Given the description of an element on the screen output the (x, y) to click on. 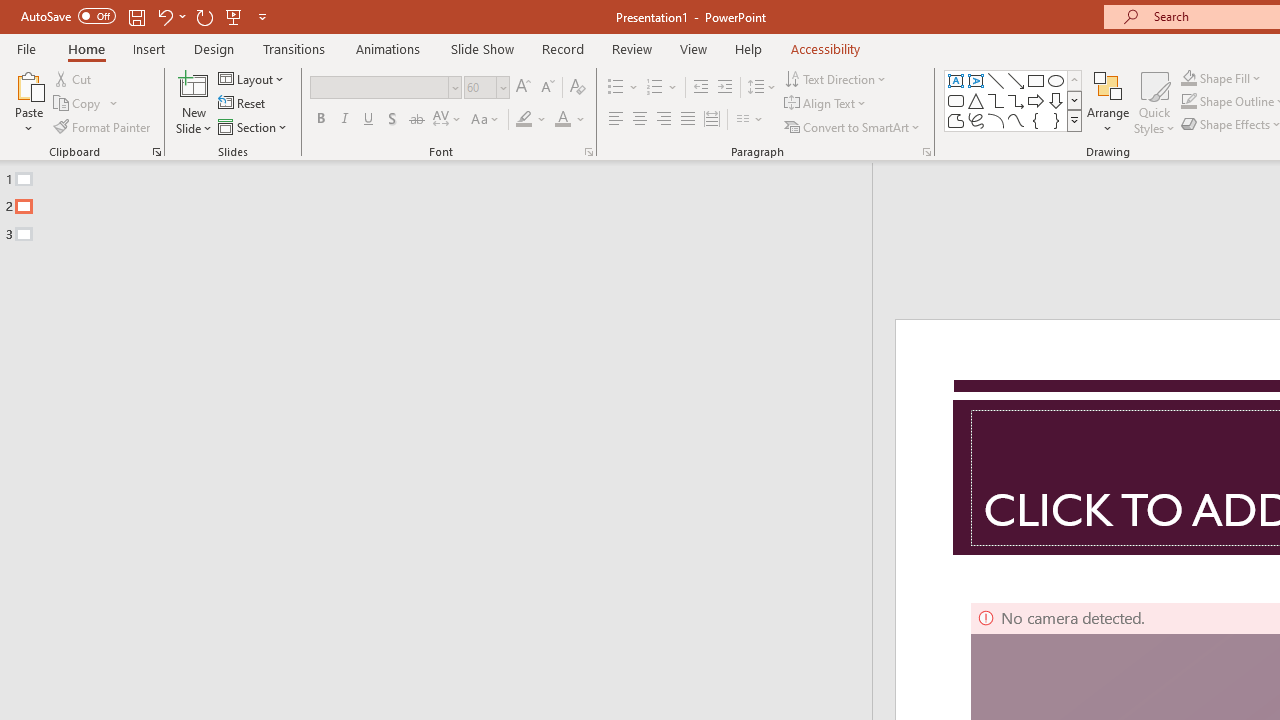
Rectangle (1035, 80)
Distributed (712, 119)
Font... (588, 151)
Arrange (1108, 102)
Text Highlight Color Yellow (524, 119)
Italic (344, 119)
Customize Quick Access Toolbar (262, 15)
Font Color Red (562, 119)
Insert (149, 48)
Columns (750, 119)
Copy (78, 103)
Undo (170, 15)
Text Highlight Color (531, 119)
Shape Fill Orange, Accent 2 (1188, 78)
Right Brace (1055, 120)
